Given the description of an element on the screen output the (x, y) to click on. 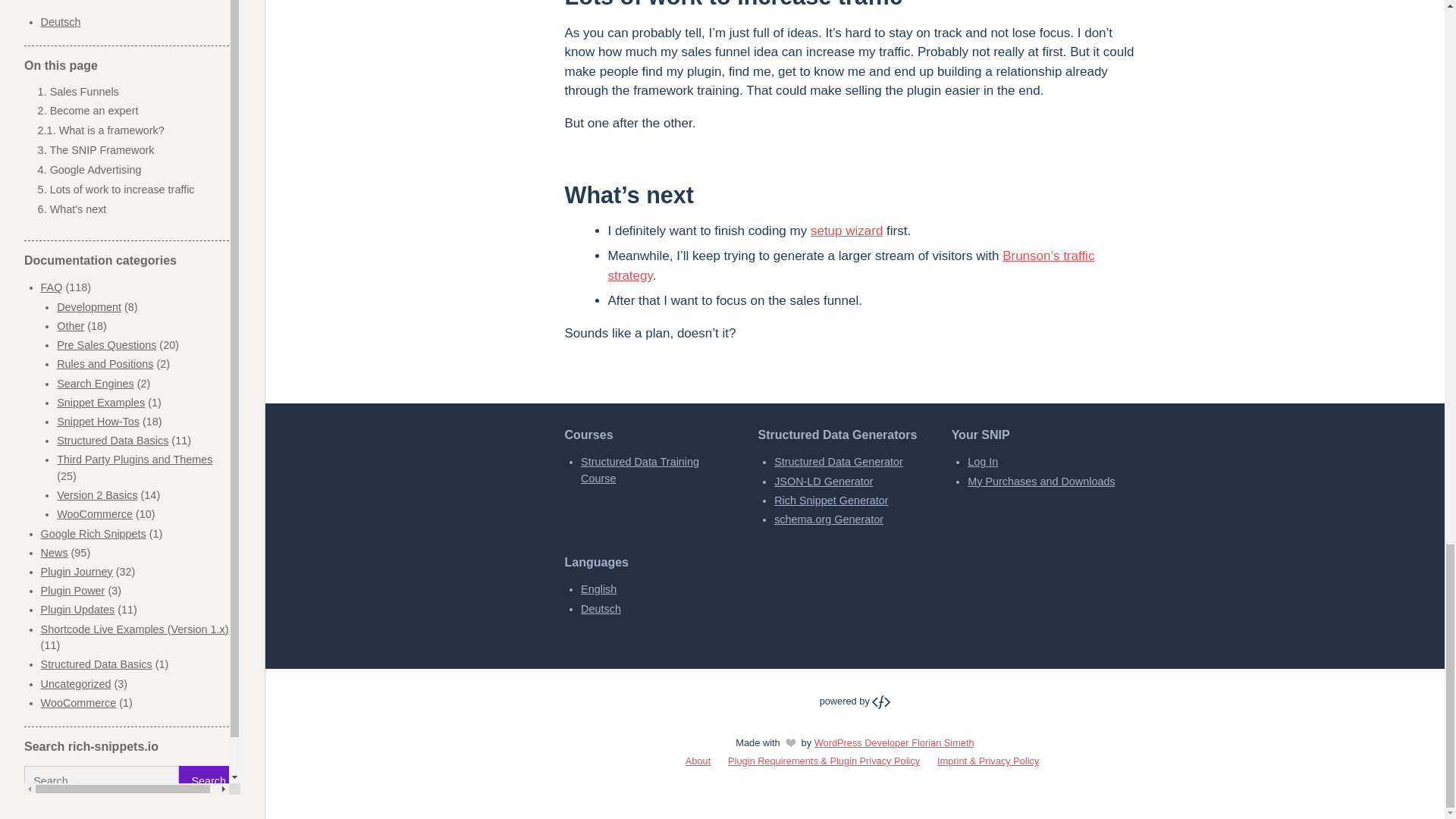
WordPress Developer Florian Simeth (855, 700)
